Given the description of an element on the screen output the (x, y) to click on. 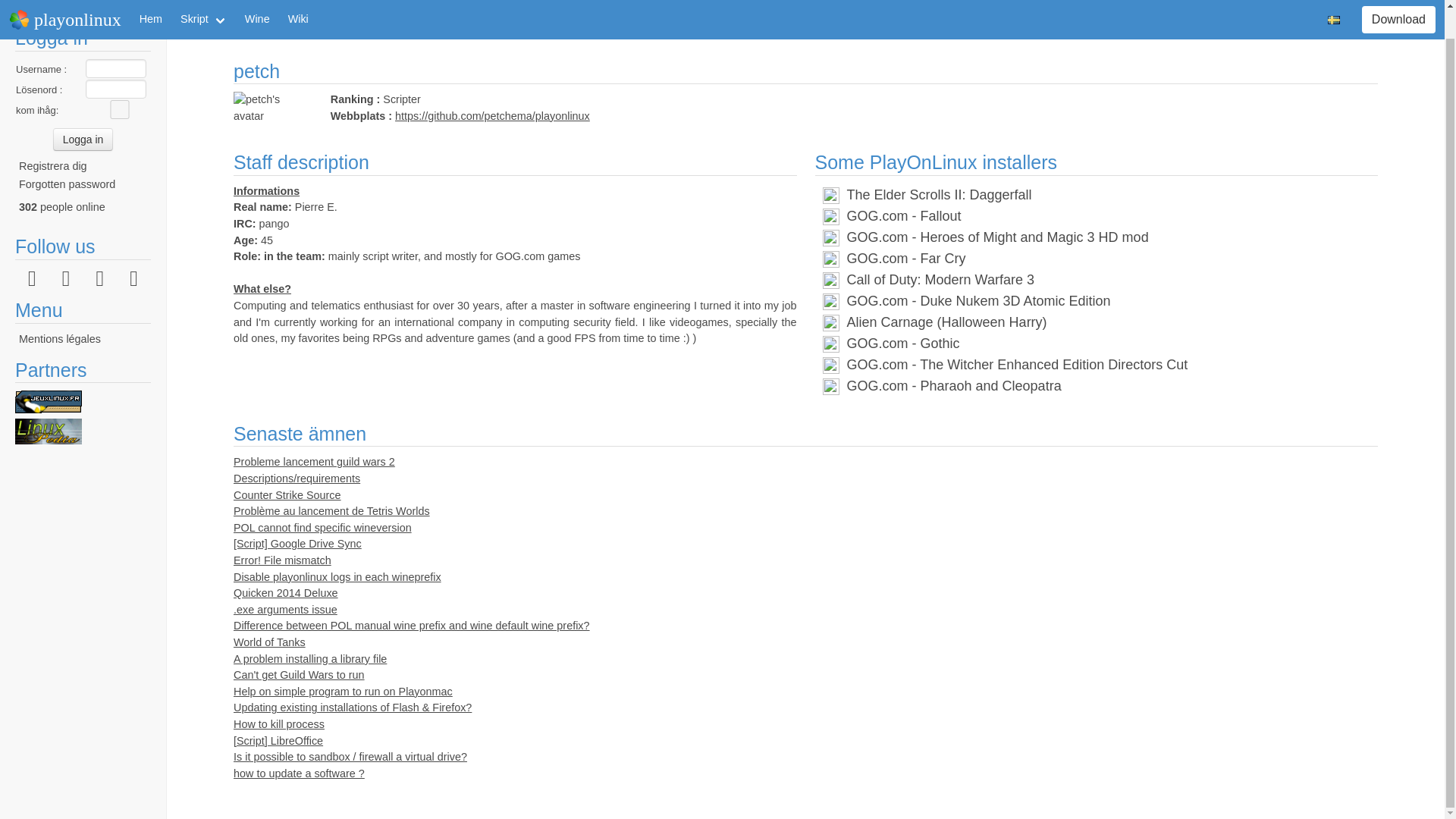
1 (119, 108)
Logga in (82, 138)
Forgotten password (66, 184)
Hem (151, 5)
Registrera dig (52, 164)
Download (1398, 2)
petch's profile (331, 24)
Wiki (298, 5)
Skript (203, 5)
GOG.com - RollerCoaster Tycoon 2 (953, 194)
